Given the description of an element on the screen output the (x, y) to click on. 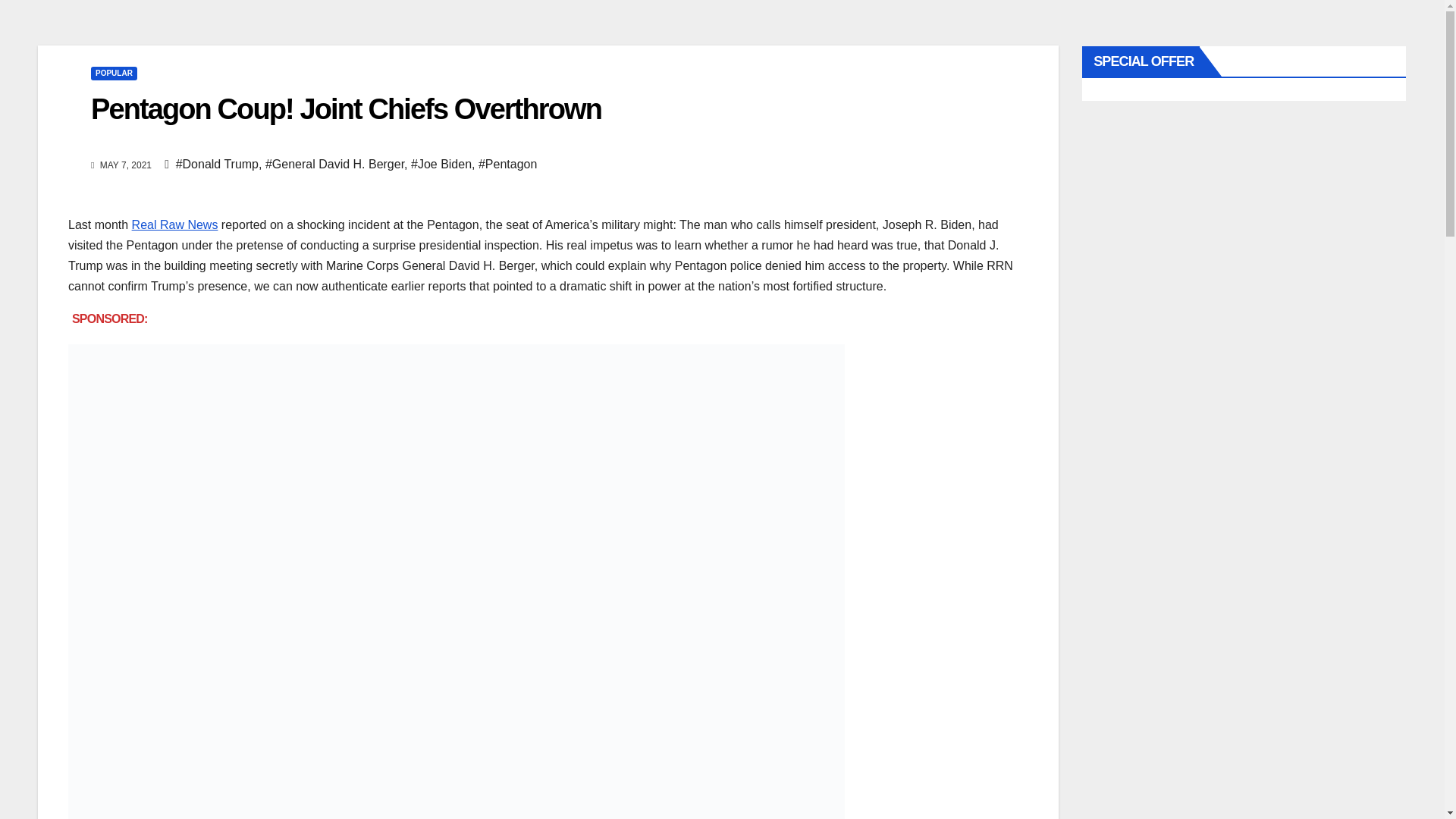
Permalink to: Pentagon Coup! Joint Chiefs Overthrown (345, 109)
SPONSORED: (109, 318)
Pentagon Coup! Joint Chiefs Overthrown (345, 109)
Real Raw News (175, 224)
POPULAR (113, 73)
